Given the description of an element on the screen output the (x, y) to click on. 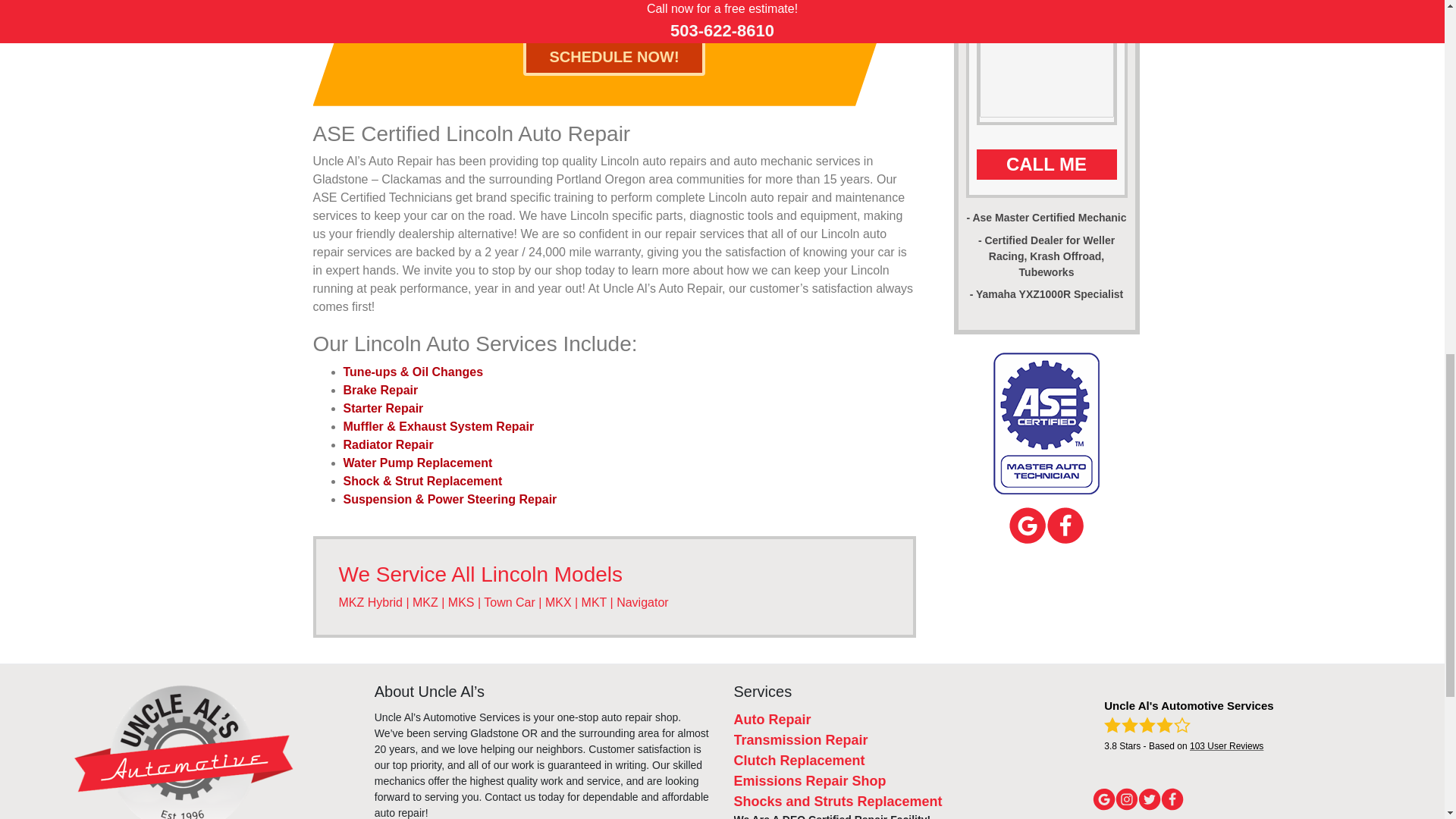
Auto Repair (771, 719)
Radiator Repair (387, 444)
Starter Repair (382, 408)
Water Pump Replacement (417, 462)
SCHEDULE NOW! (613, 56)
Call Me (1046, 164)
Brake Repair (379, 390)
Transmission Repair (800, 739)
Call Me (1046, 164)
